Given the description of an element on the screen output the (x, y) to click on. 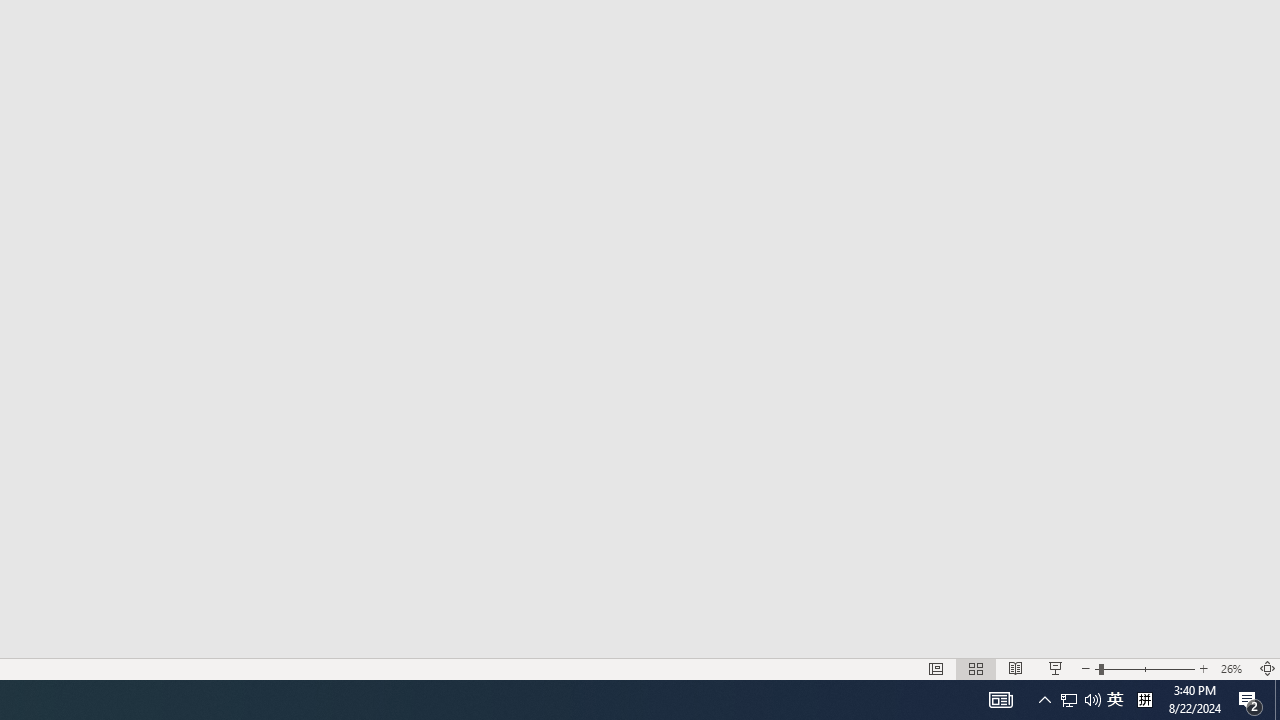
Zoom 26% (1234, 668)
